Given the description of an element on the screen output the (x, y) to click on. 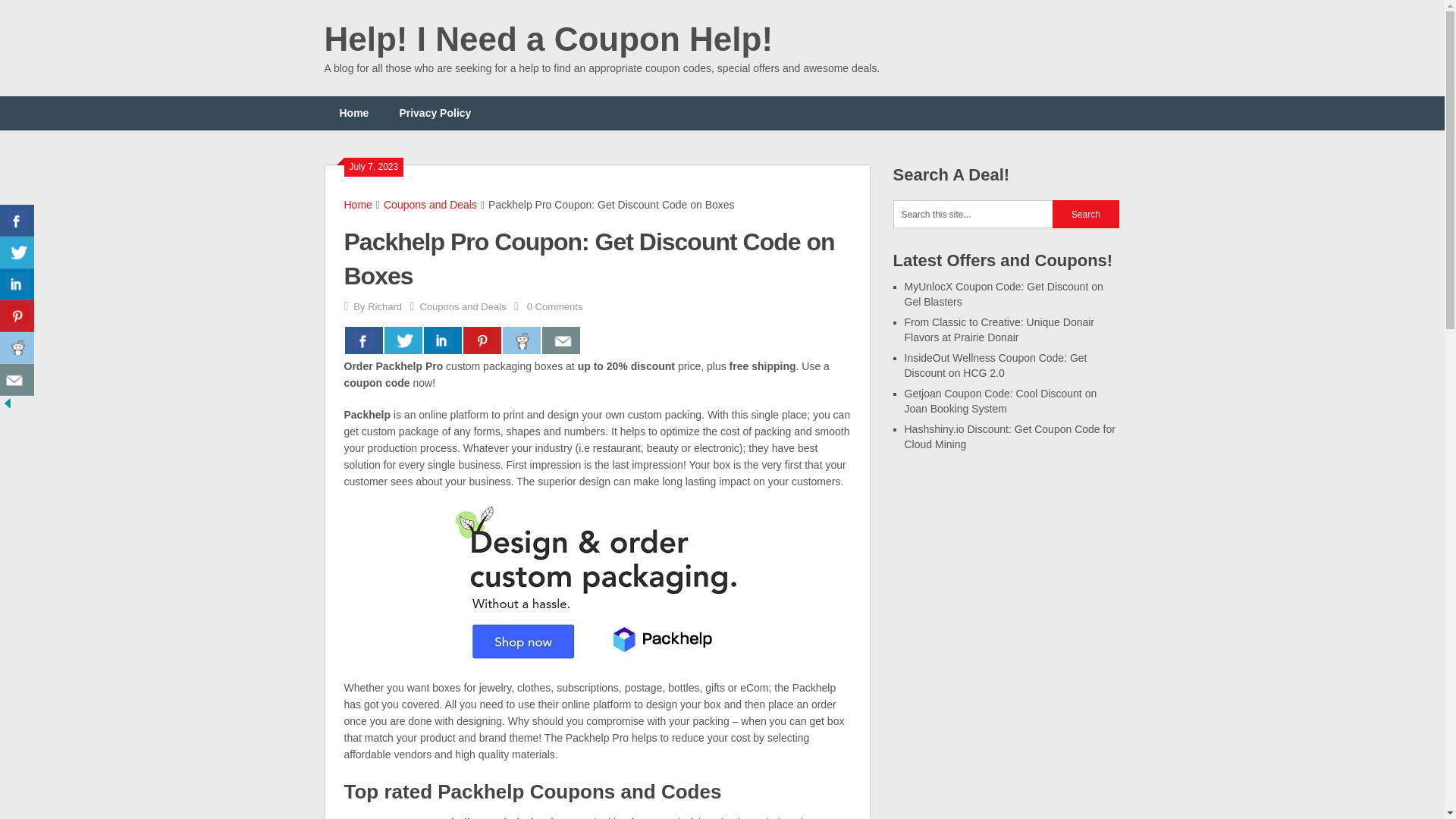
Search this site... (972, 213)
Coupons and Deals (430, 204)
Share On Facebook (16, 220)
Richard (384, 306)
Search (1085, 213)
DOTHERIGHTTHING (394, 817)
Posts by Richard (384, 306)
Coupons and Deals (462, 306)
Home (354, 113)
Search (1085, 213)
